Given the description of an element on the screen output the (x, y) to click on. 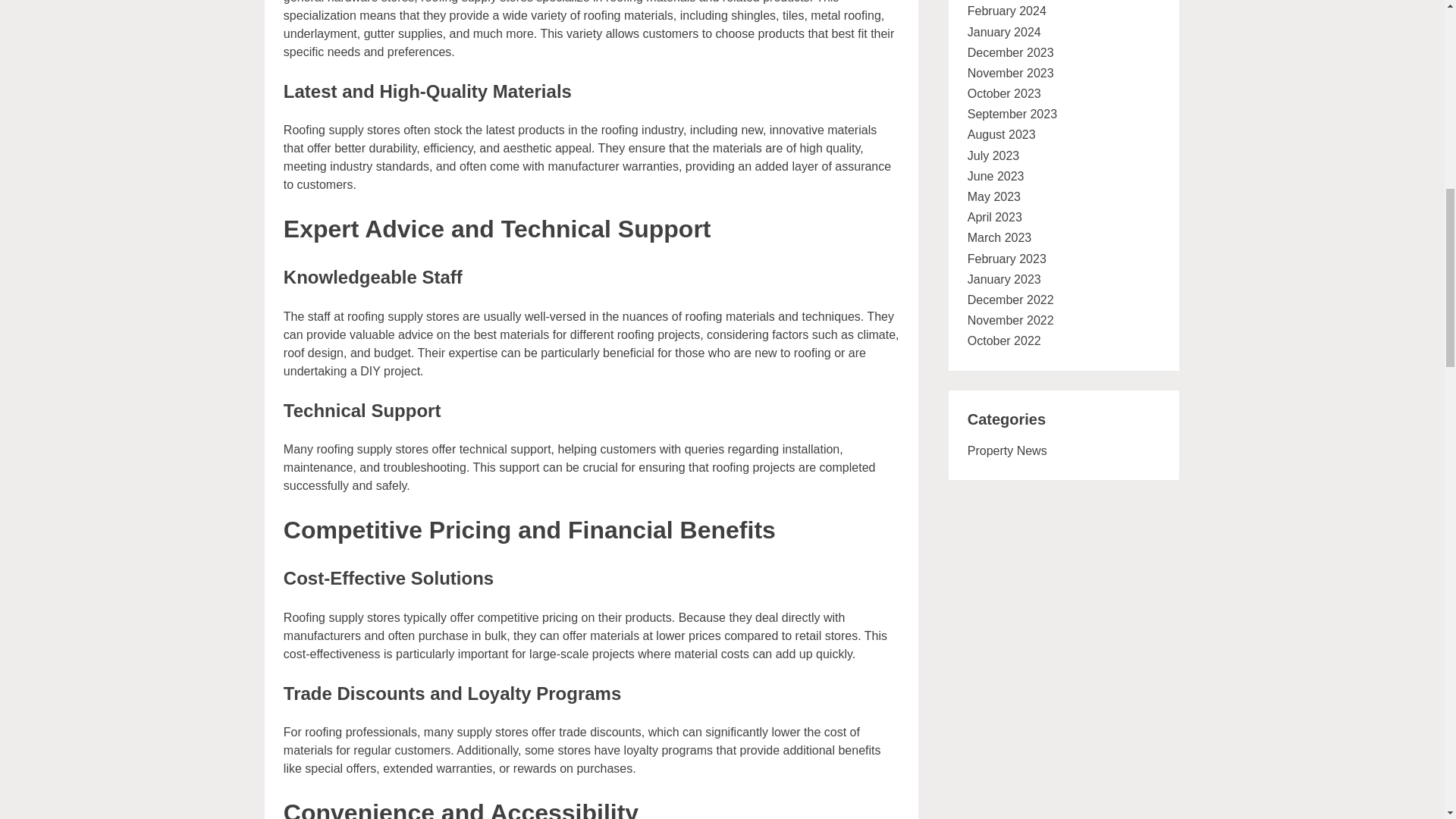
February 2024 (1007, 10)
November 2023 (1011, 72)
January 2024 (1004, 31)
October 2023 (1004, 92)
December 2023 (1011, 51)
